Given the description of an element on the screen output the (x, y) to click on. 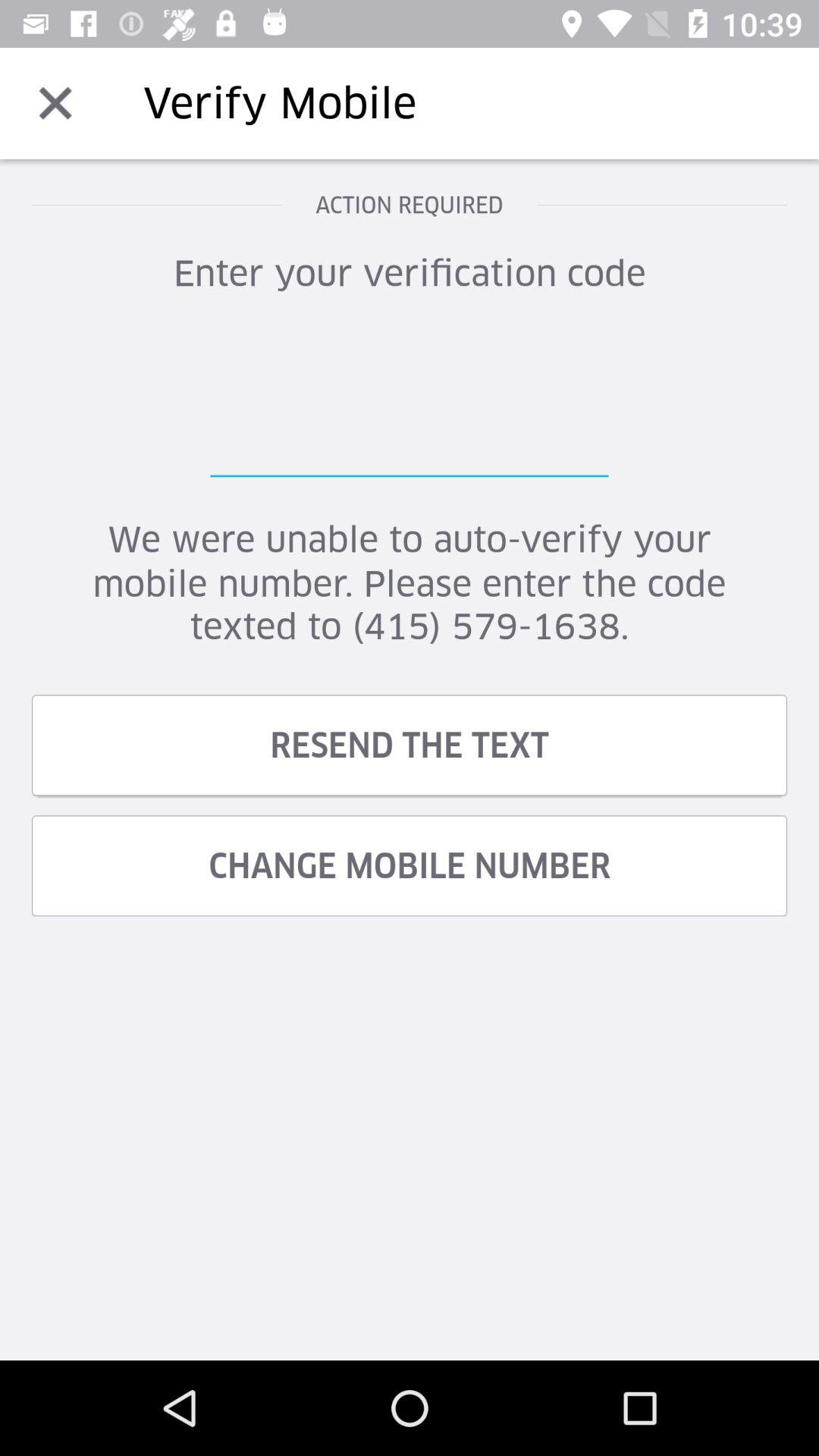
flip to resend the text icon (409, 745)
